Given the description of an element on the screen output the (x, y) to click on. 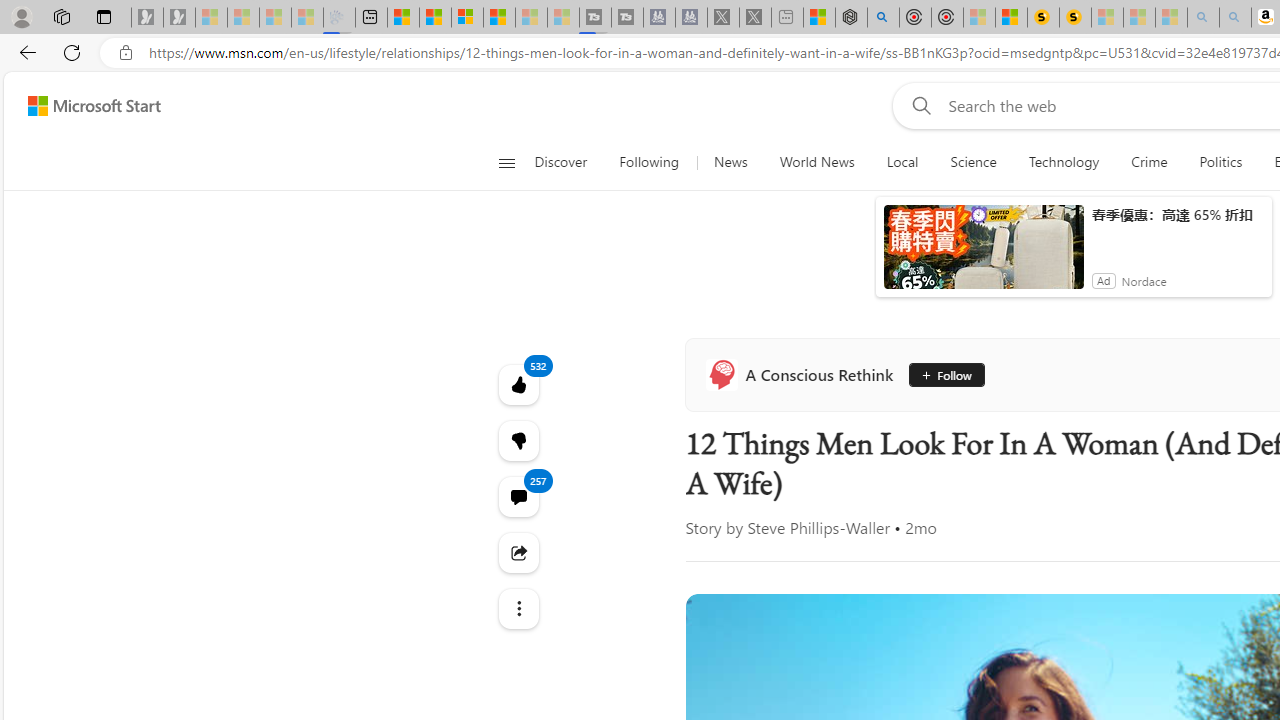
AutomationID: tab-14 (769, 576)
AutomationID: tab-22 (833, 576)
443 Like (1151, 574)
Money (875, 265)
XDA Developers (1138, 507)
292 Like (1151, 574)
AutomationID: tab-15 (778, 576)
Play (818, 267)
Weather (1020, 265)
AutomationID: tab-24 (850, 576)
Animals Around The Globe (US) (1138, 475)
USA TODAY (1138, 475)
Microsoft 365 (1186, 223)
